Given the description of an element on the screen output the (x, y) to click on. 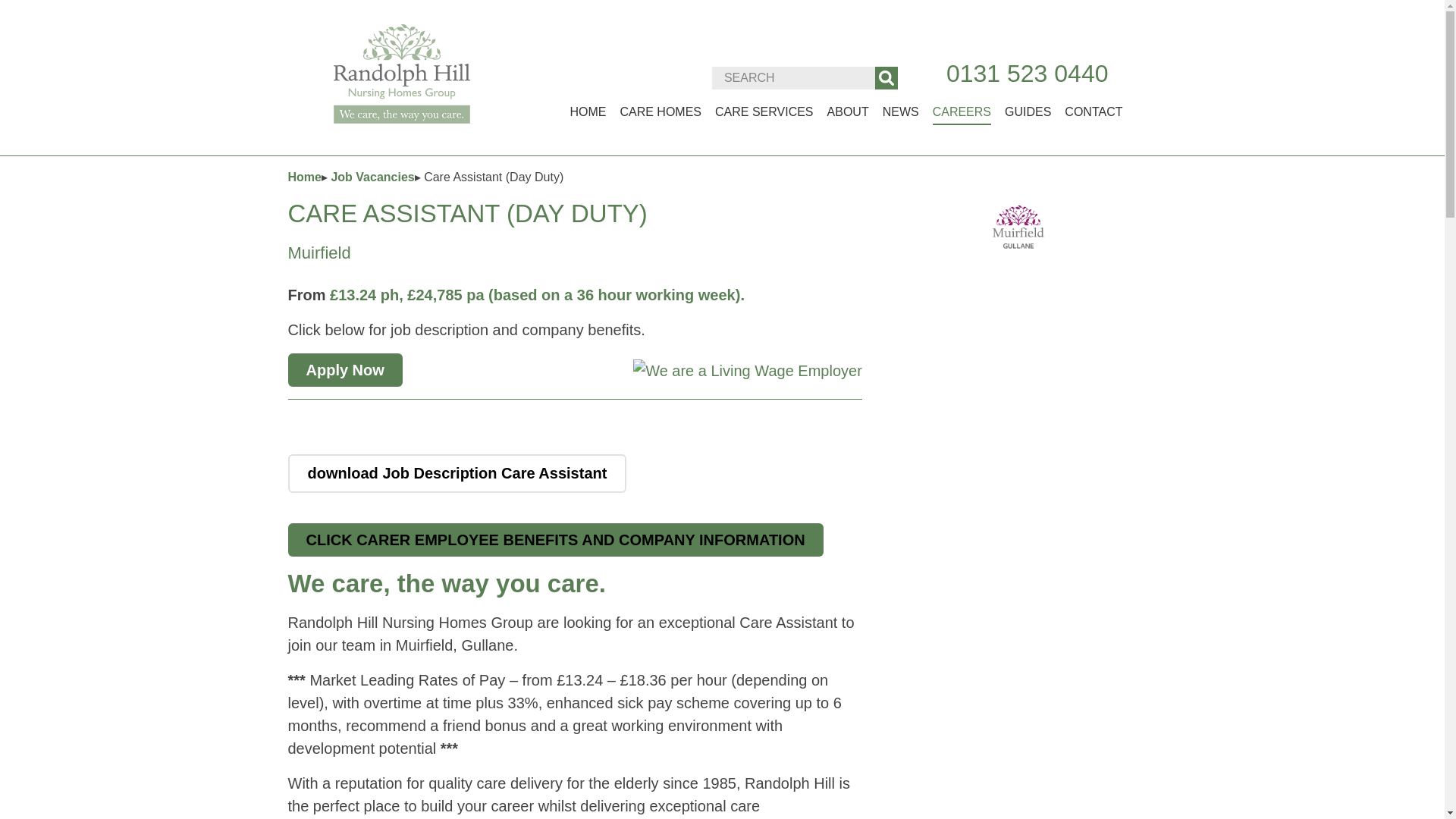
HOME (587, 112)
0131 523 0440 (1027, 73)
CARE HOMES (660, 112)
